Given the description of an element on the screen output the (x, y) to click on. 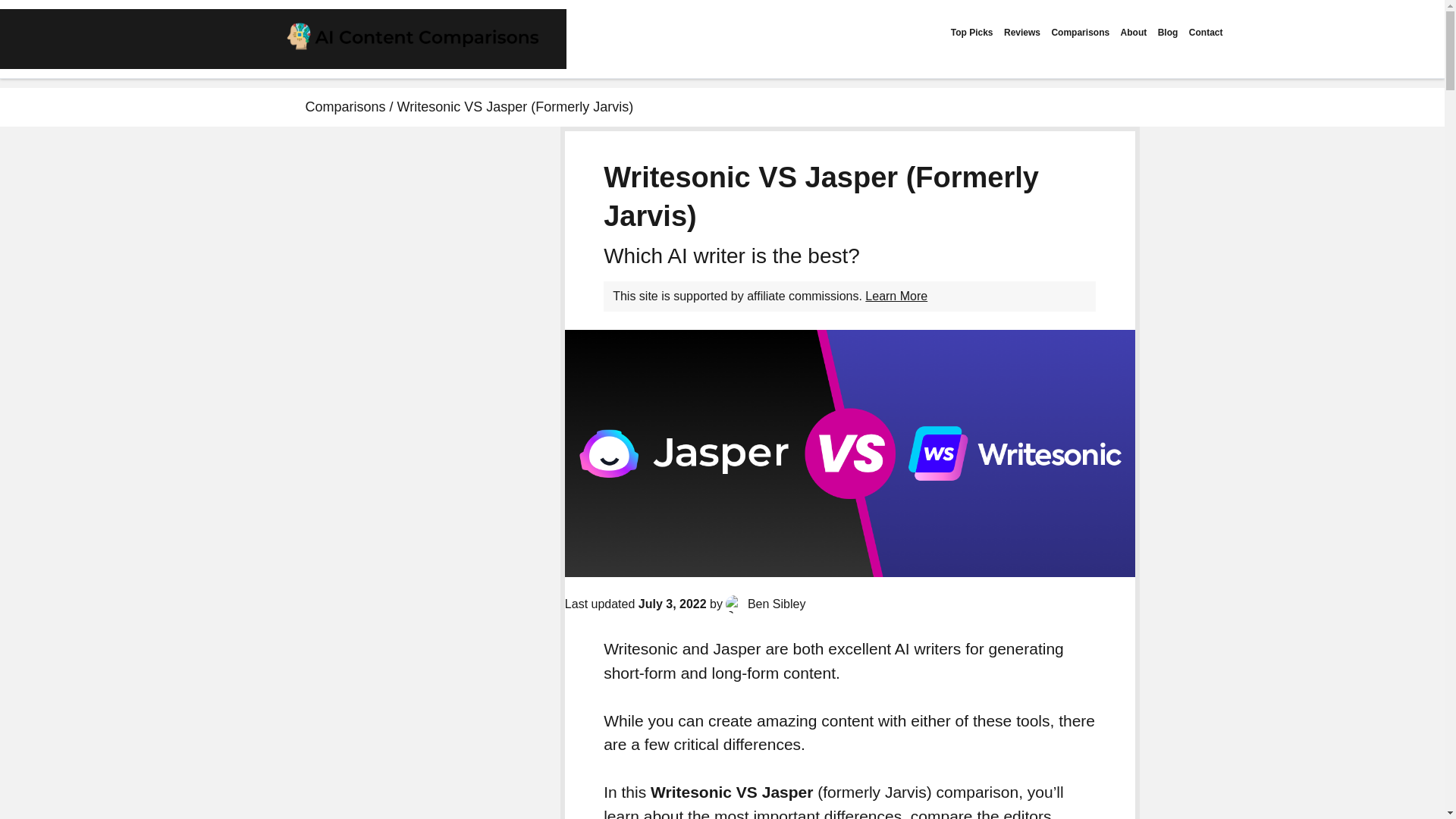
Reviews (1022, 32)
Learn More (895, 295)
Comparisons (344, 106)
About (1134, 32)
Contact (1206, 32)
Blog (1167, 32)
Comparisons (1080, 32)
Top Picks (971, 32)
